Given the description of an element on the screen output the (x, y) to click on. 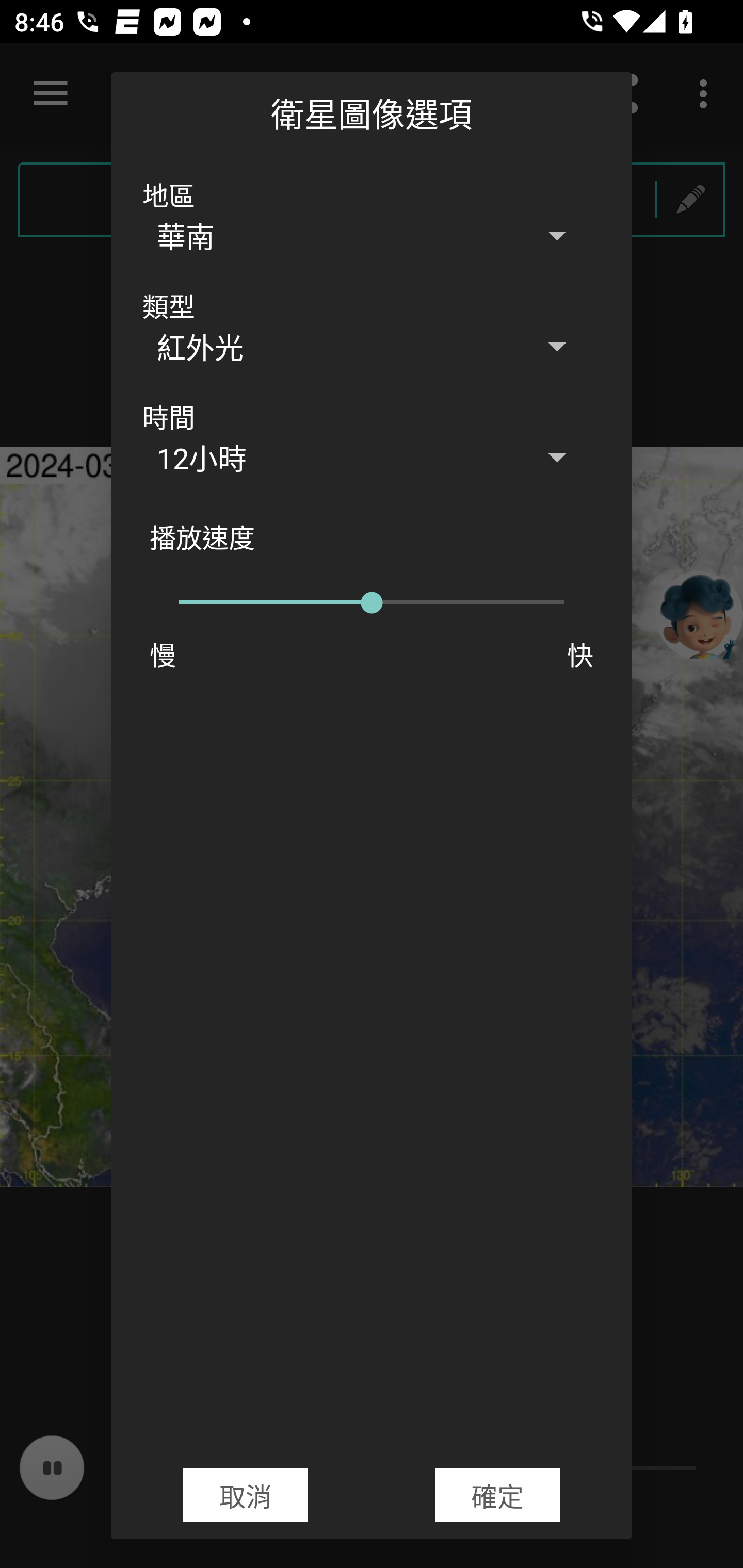
華南 (371, 235)
紅外光 (371, 346)
12小時 (371, 456)
取消 (245, 1494)
確定 (496, 1494)
